Given the description of an element on the screen output the (x, y) to click on. 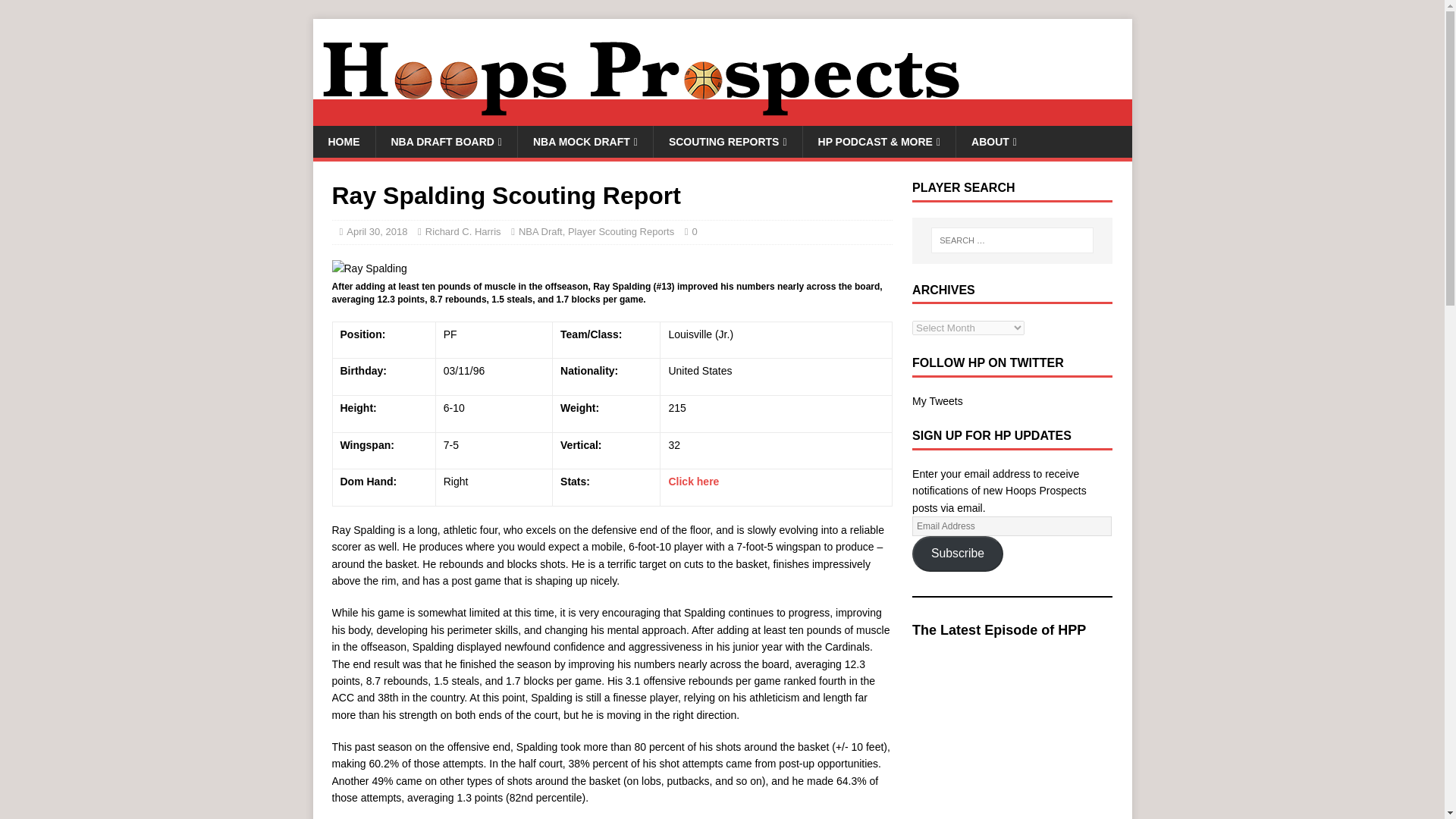
Hoops Prospects - In-depth NBA Draft Coverage (722, 117)
0 (695, 231)
ABOUT (993, 142)
Ray Spalding (369, 268)
SCOUTING REPORTS (727, 142)
Player Scouting Reports (620, 231)
HOME (343, 142)
April 30, 2018 (376, 231)
Richard C. Harris (462, 231)
0 (695, 231)
NBA DRAFT BOARD (445, 142)
NBA Draft (540, 231)
Click here (693, 481)
NBA MOCK DRAFT (584, 142)
